Given the description of an element on the screen output the (x, y) to click on. 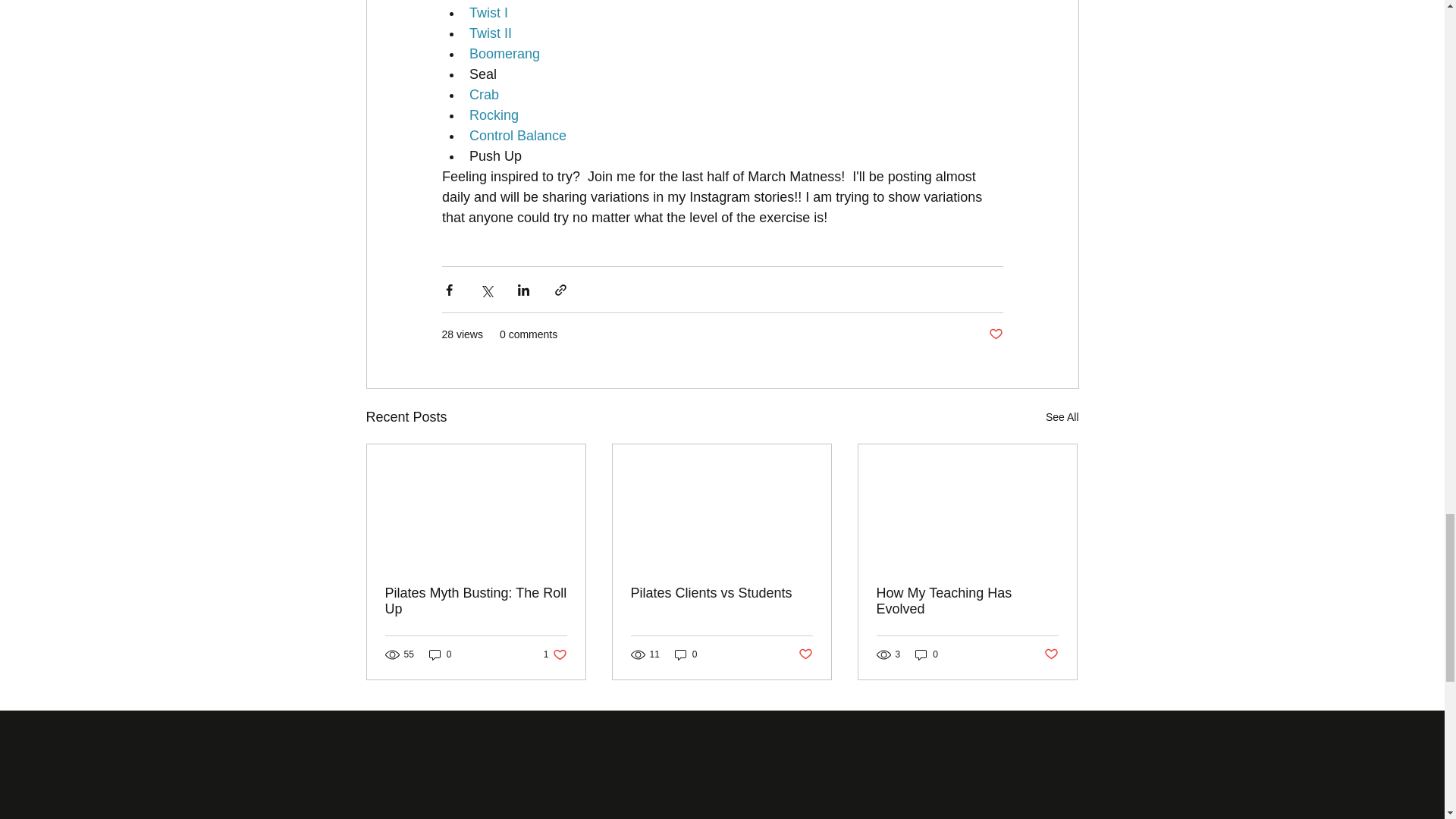
Pilates Myth Busting: The Roll Up (476, 601)
0 (685, 654)
See All (555, 654)
Post not marked as liked (1061, 417)
Pilates Clients vs Students (804, 653)
0 (721, 593)
Post not marked as liked (440, 654)
